Given the description of an element on the screen output the (x, y) to click on. 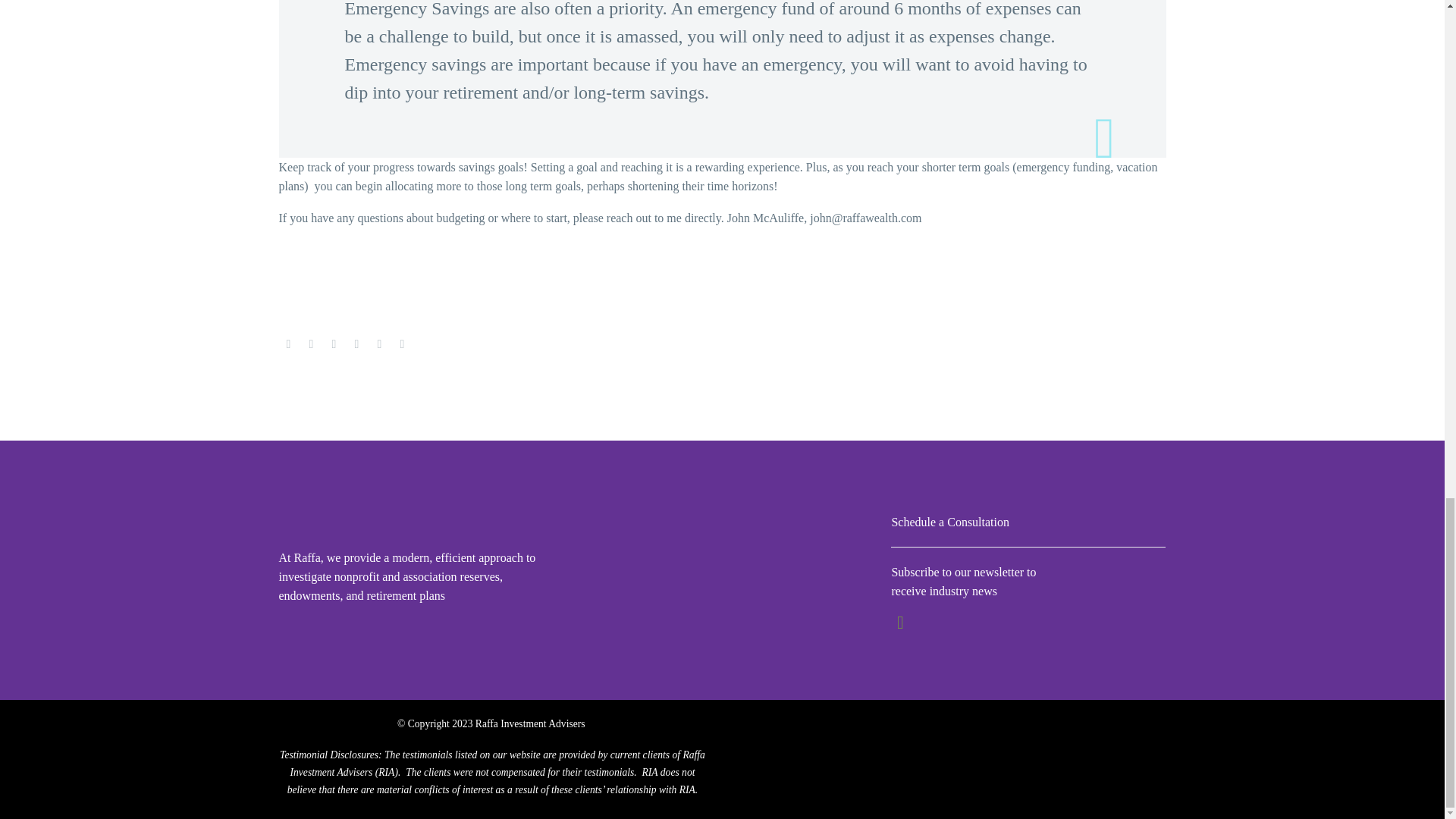
Twitter (310, 344)
Reddit (401, 344)
LinkedIn (378, 344)
Tumblr (356, 344)
Pinterest (333, 344)
Facebook (288, 344)
